Given the description of an element on the screen output the (x, y) to click on. 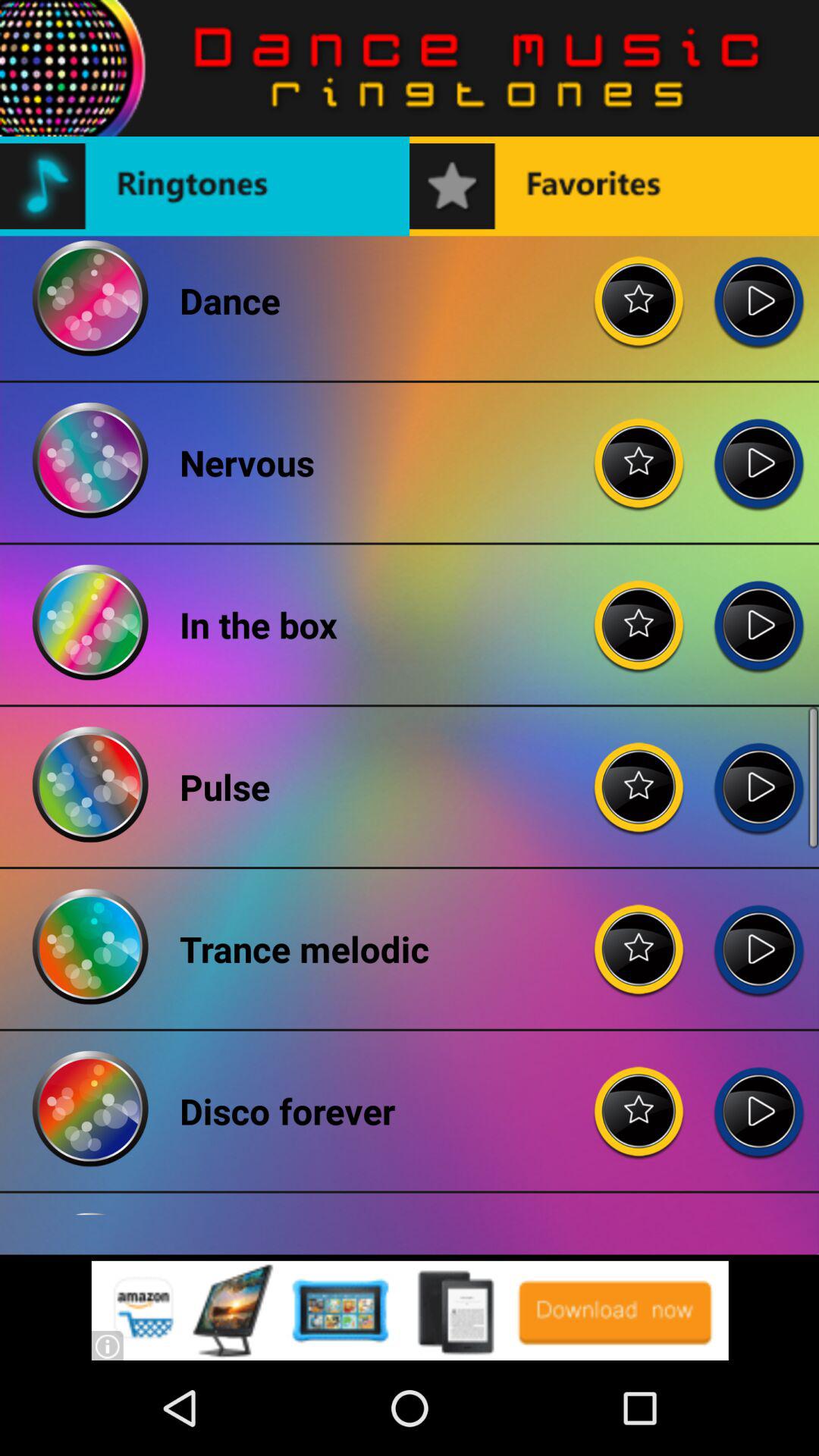
star (639, 775)
